Given the description of an element on the screen output the (x, y) to click on. 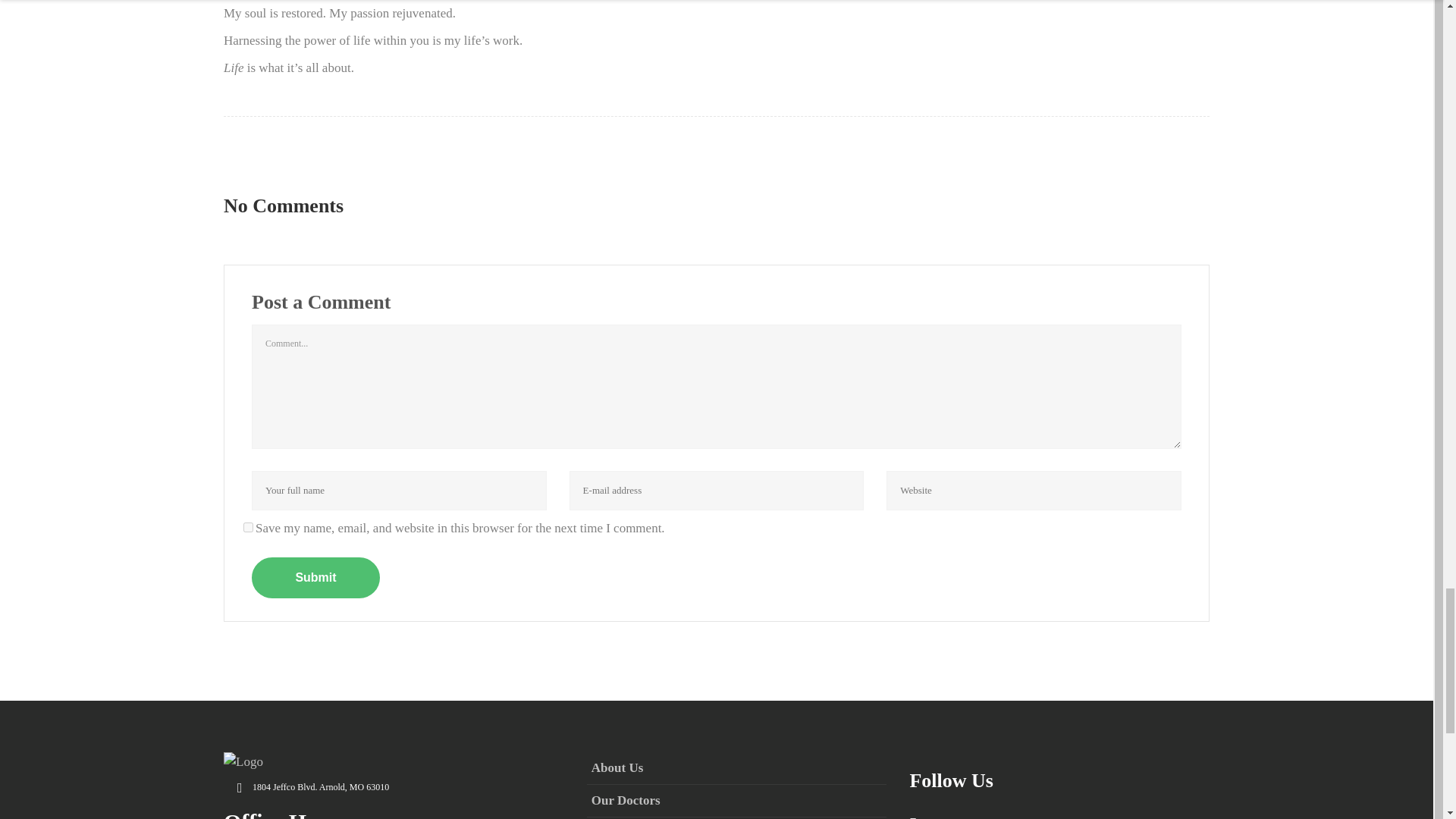
Submit (315, 577)
yes (248, 527)
